Given the description of an element on the screen output the (x, y) to click on. 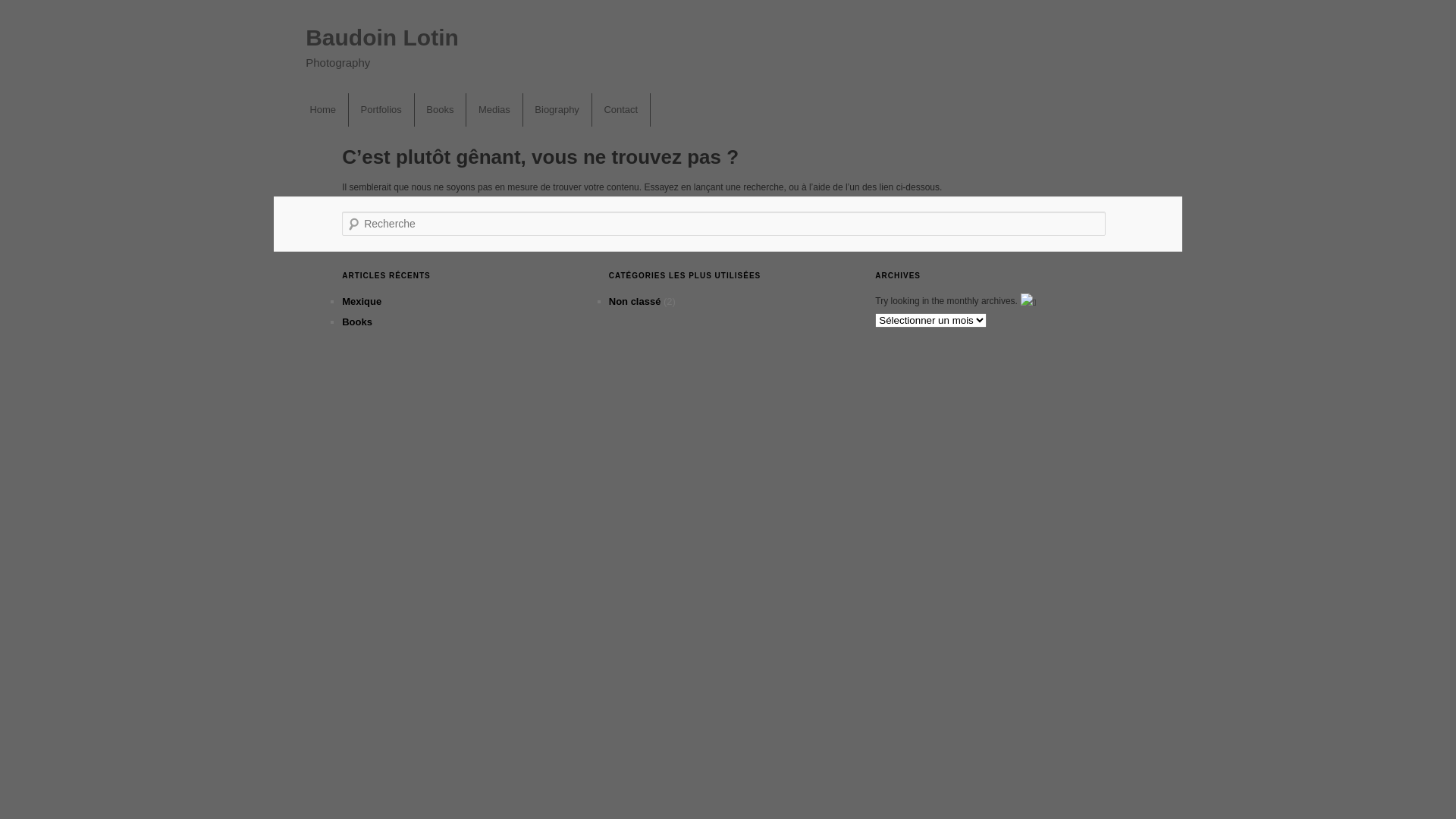
Recherche Element type: text (28, 7)
Contact Element type: text (621, 109)
Home Element type: text (323, 109)
Aller au contenu secondaire Element type: text (373, 108)
Books Element type: text (357, 321)
Medias Element type: text (494, 109)
Portfolios Element type: text (381, 109)
Mexique Element type: text (361, 301)
Baudoin Lotin Element type: text (381, 37)
Aller au contenu principal Element type: text (367, 108)
Books Element type: text (440, 109)
Biography Element type: text (557, 109)
